Given the description of an element on the screen output the (x, y) to click on. 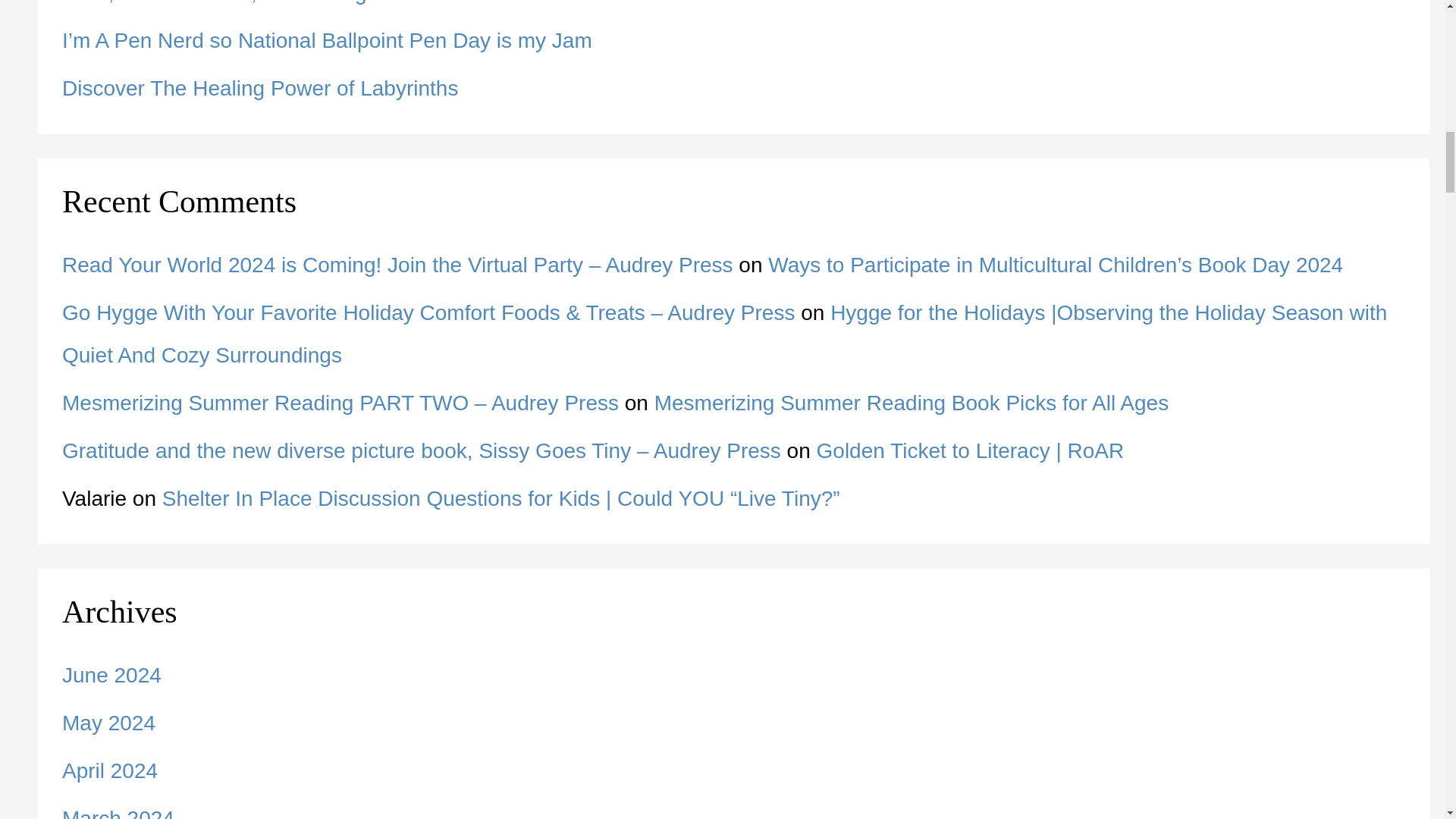
Mesmerizing Summer Reading Book Picks for All Ages (911, 402)
Discover The Healing Power of Labyrinths (260, 87)
